Given the description of an element on the screen output the (x, y) to click on. 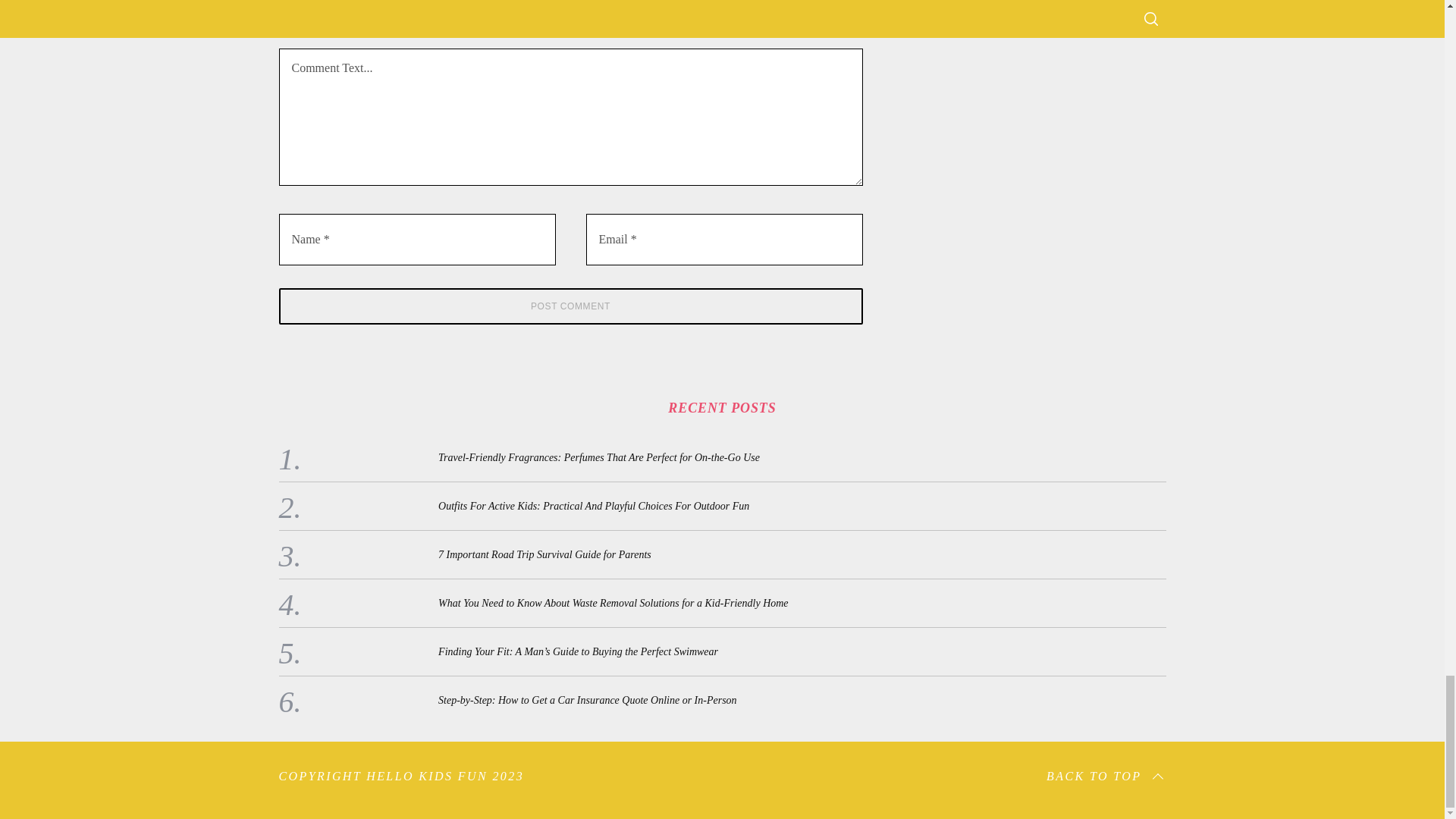
Post Comment (571, 306)
Post Comment (571, 306)
